Given the description of an element on the screen output the (x, y) to click on. 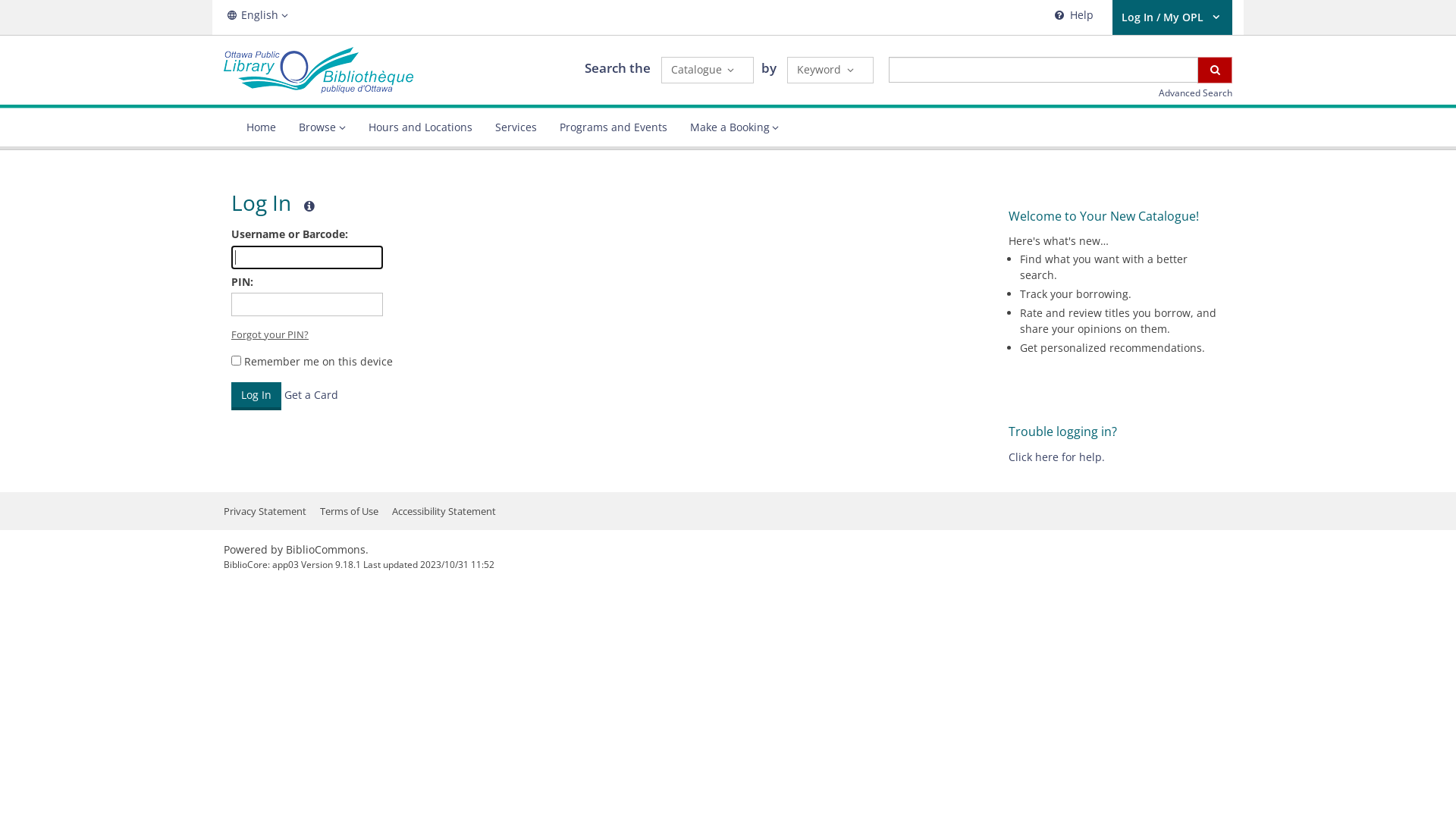
Log In Element type: text (256, 396)
Home Element type: text (261, 127)
Programs and Events Element type: text (612, 127)
Log In / My OPL
User Log In / My OPL. Element type: text (1171, 17)
Get a Card Element type: text (311, 394)
Click here for help. Element type: text (1056, 456)
Help for logging in, opens a new window Element type: text (309, 205)
Browse
Browse, collapsed Element type: text (322, 127)
Help
Help, opens a new window Element type: text (1072, 17)
Accessibility Statement Element type: text (443, 510)
Services Element type: text (515, 127)
Keyword
  Element type: text (830, 69)
Forgot your PIN? Element type: text (269, 334)
Privacy Statement Element type: text (264, 510)
Make a Booking
Make a Booking, collapsed Element type: text (733, 127)
Advanced Search Element type: text (1195, 92)
Catalogue
  Element type: text (707, 69)
Hours and Locations Element type: text (419, 127)
Log In Element type: hover (256, 396)
Terms of Use Element type: text (349, 510)
Search Element type: text (1214, 69)
English
English, collapsed Element type: text (257, 15)
